Given the description of an element on the screen output the (x, y) to click on. 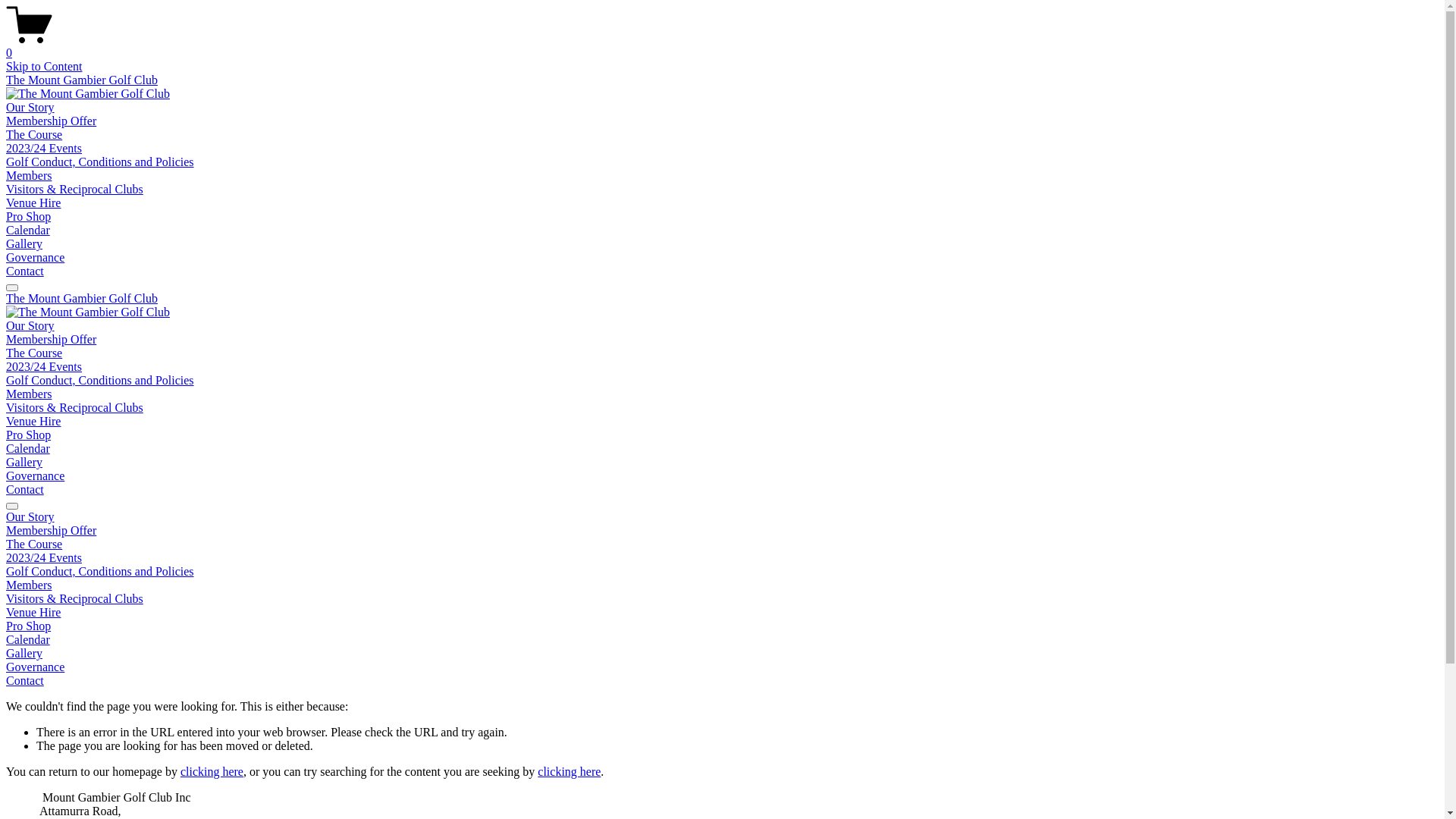
Calendar Element type: text (722, 639)
Governance Element type: text (35, 257)
Visitors & Reciprocal Clubs Element type: text (74, 188)
Contact Element type: text (24, 489)
Venue Hire Element type: text (722, 612)
Golf Conduct, Conditions and Policies Element type: text (100, 161)
Members Element type: text (28, 175)
Contact Element type: text (24, 270)
Gallery Element type: text (24, 461)
2023/24 Events Element type: text (43, 366)
0 Element type: text (722, 45)
Membership Offer Element type: text (51, 338)
Pro Shop Element type: text (722, 626)
Governance Element type: text (722, 667)
Gallery Element type: text (24, 243)
Calendar Element type: text (28, 448)
Contact Element type: text (722, 680)
Venue Hire Element type: text (33, 420)
Members Element type: text (722, 585)
Our Story Element type: text (30, 325)
The Course Element type: text (722, 544)
clicking here Element type: text (211, 771)
Pro Shop Element type: text (28, 216)
The Course Element type: text (34, 134)
Pro Shop Element type: text (28, 434)
Our Story Element type: text (30, 106)
Venue Hire Element type: text (33, 202)
Skip to Content Element type: text (43, 65)
Membership Offer Element type: text (722, 530)
Membership Offer Element type: text (51, 120)
2023/24 Events Element type: text (43, 147)
The Mount Gambier Golf Club Element type: text (81, 297)
Golf Conduct, Conditions and Policies Element type: text (100, 379)
2023/24 Events Element type: text (722, 557)
Calendar Element type: text (28, 229)
Visitors & Reciprocal Clubs Element type: text (722, 598)
clicking here Element type: text (568, 771)
The Course Element type: text (34, 352)
Gallery Element type: text (722, 653)
Visitors & Reciprocal Clubs Element type: text (74, 407)
Governance Element type: text (35, 475)
Our Story Element type: text (722, 517)
Members Element type: text (28, 393)
Golf Conduct, Conditions and Policies Element type: text (722, 571)
The Mount Gambier Golf Club Element type: text (81, 79)
